Given the description of an element on the screen output the (x, y) to click on. 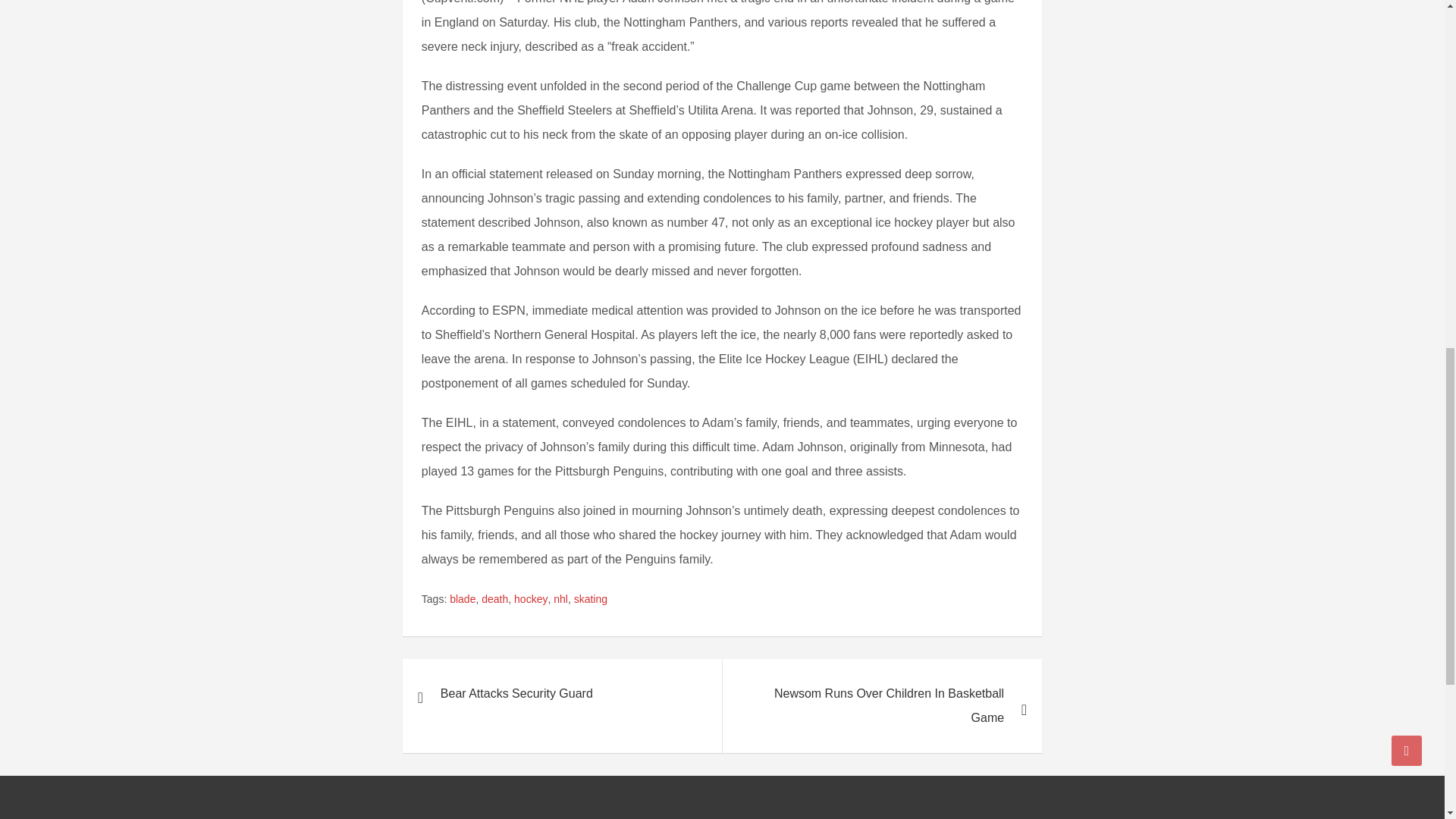
Newsom Runs Over Children In Basketball Game (882, 705)
skating (590, 598)
death (494, 598)
Bear Attacks Security Guard (562, 693)
hockey (530, 598)
blade (462, 598)
